Given the description of an element on the screen output the (x, y) to click on. 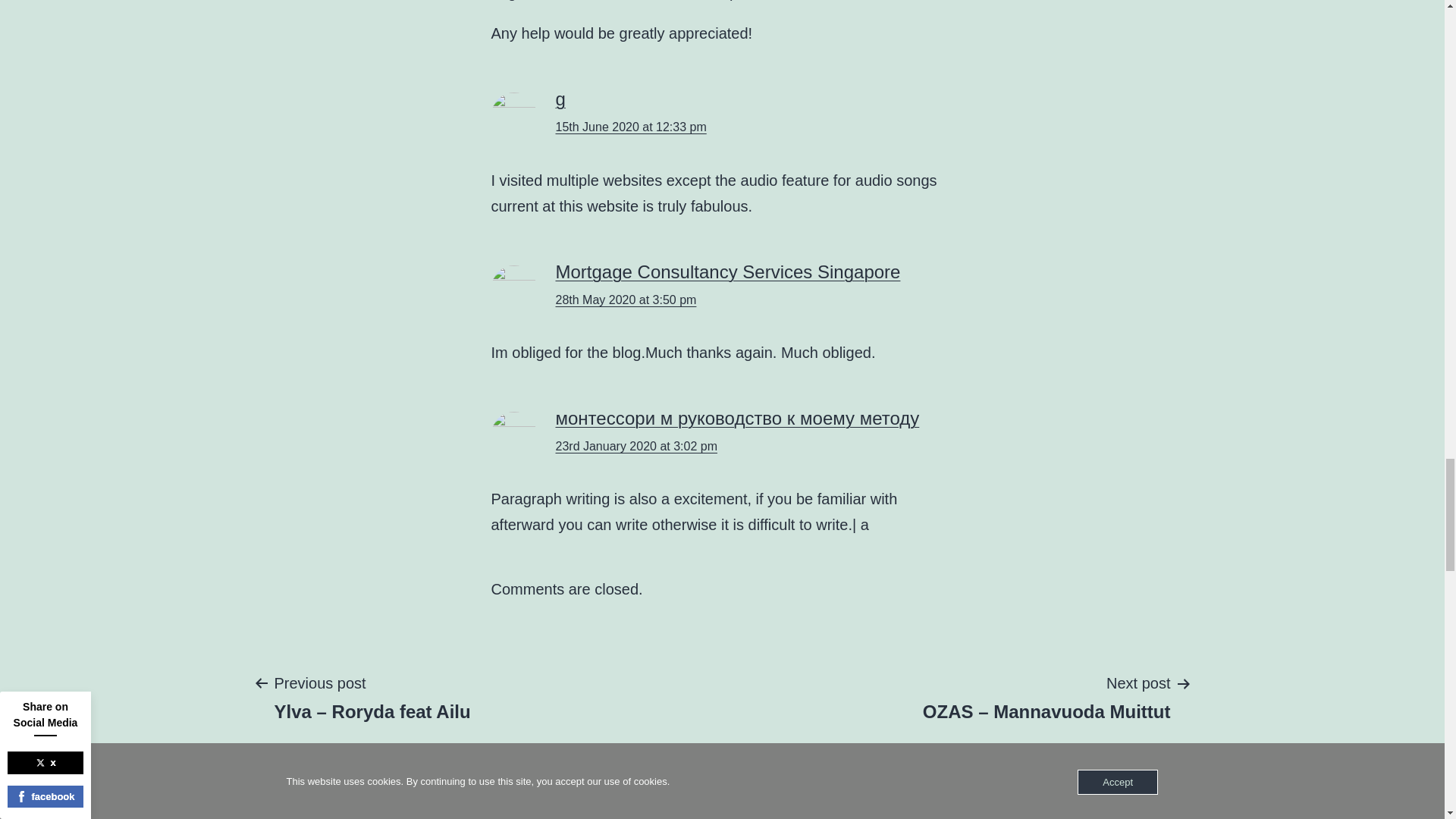
Mortgage Consultancy Services Singapore (726, 271)
23rd January 2020 at 3:02 pm (635, 445)
15th June 2020 at 12:33 pm (630, 126)
28th May 2020 at 3:50 pm (624, 299)
